Given the description of an element on the screen output the (x, y) to click on. 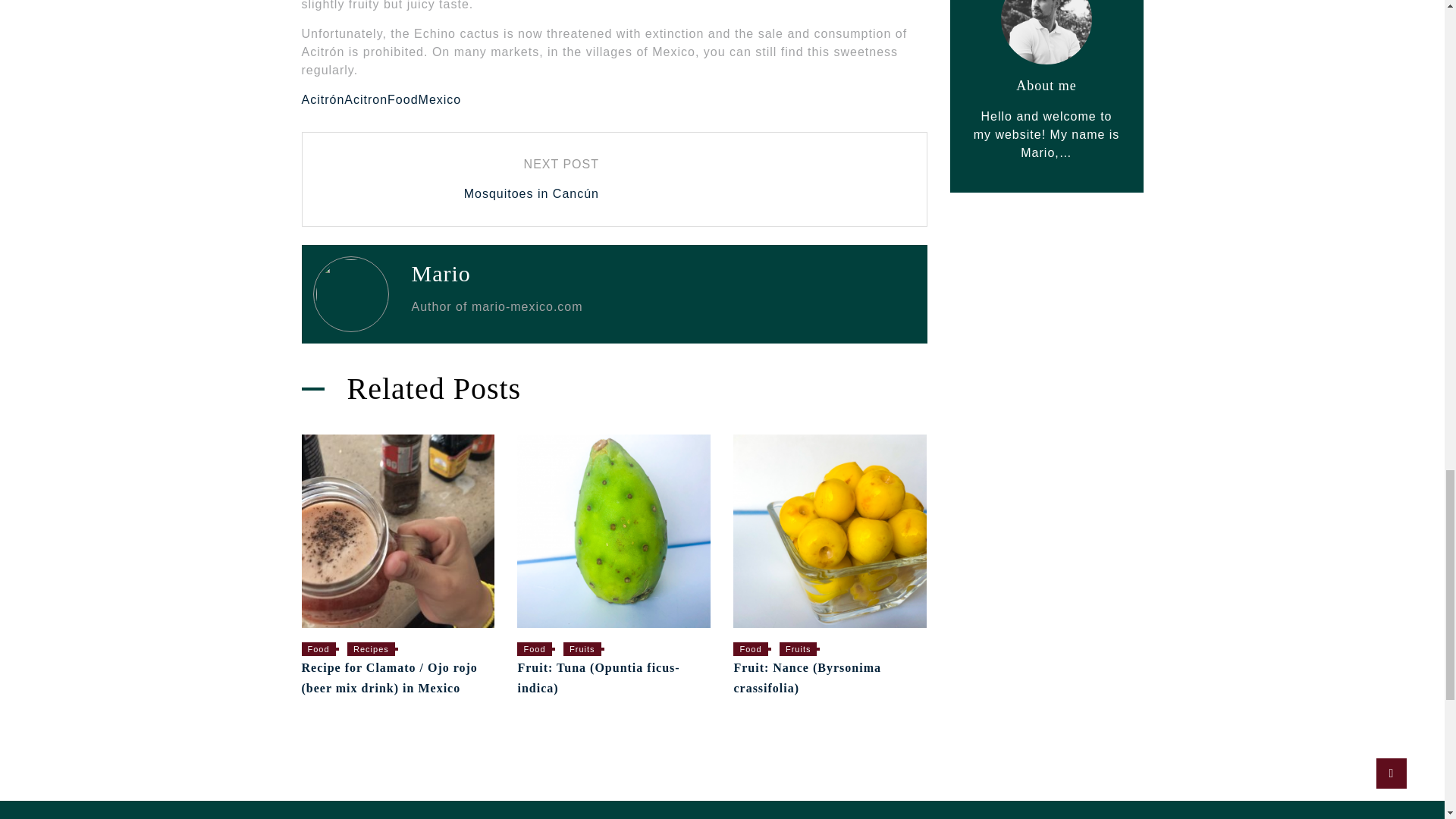
Mexico (440, 99)
Food (402, 99)
Acitron (365, 99)
